Given the description of an element on the screen output the (x, y) to click on. 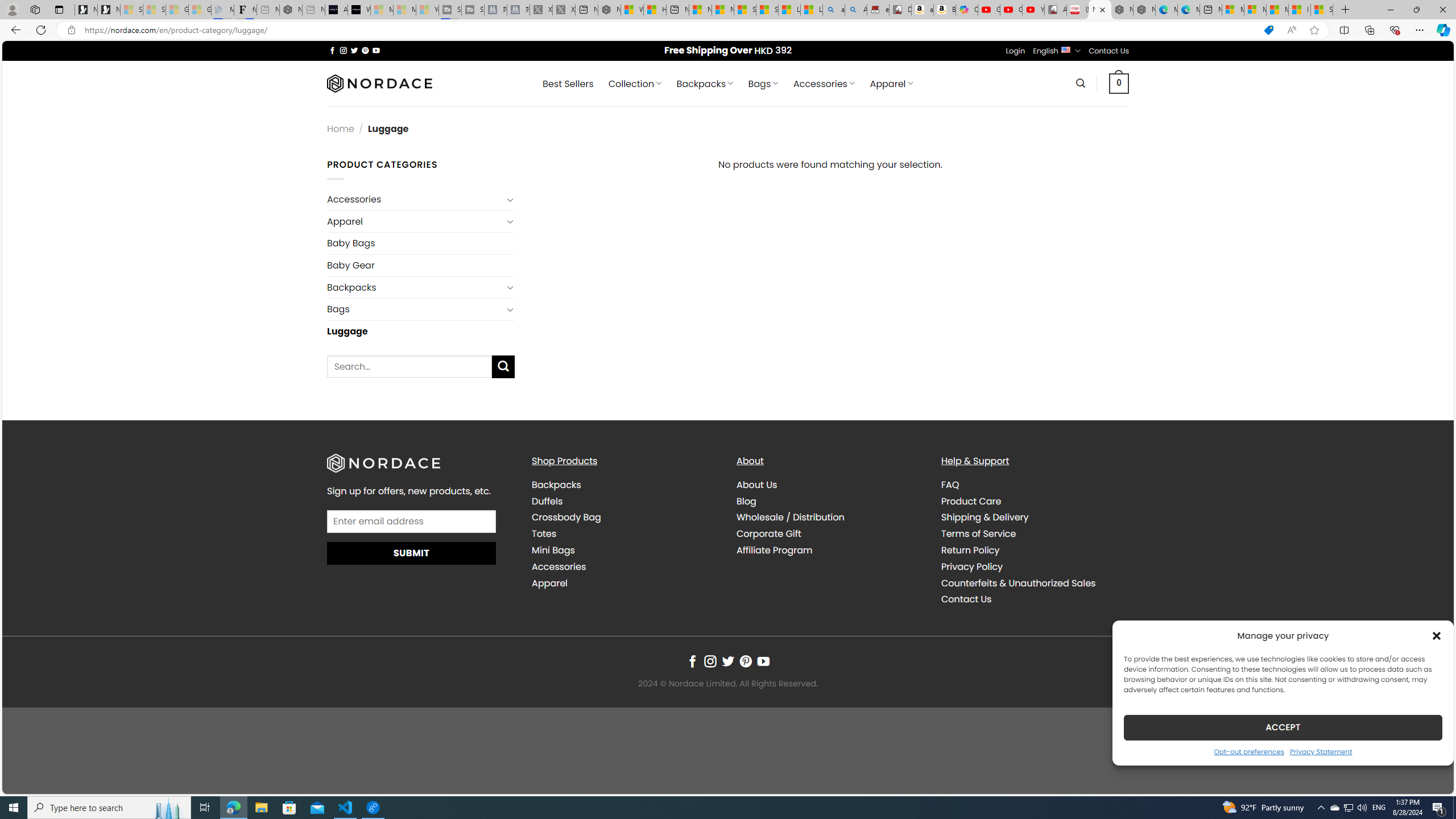
Nordace - Nordace has arrived Hong Kong (1144, 9)
Terms of Service (978, 533)
Follow on YouTube (763, 661)
Accessories (558, 566)
Corporate Gift (830, 533)
